Given the description of an element on the screen output the (x, y) to click on. 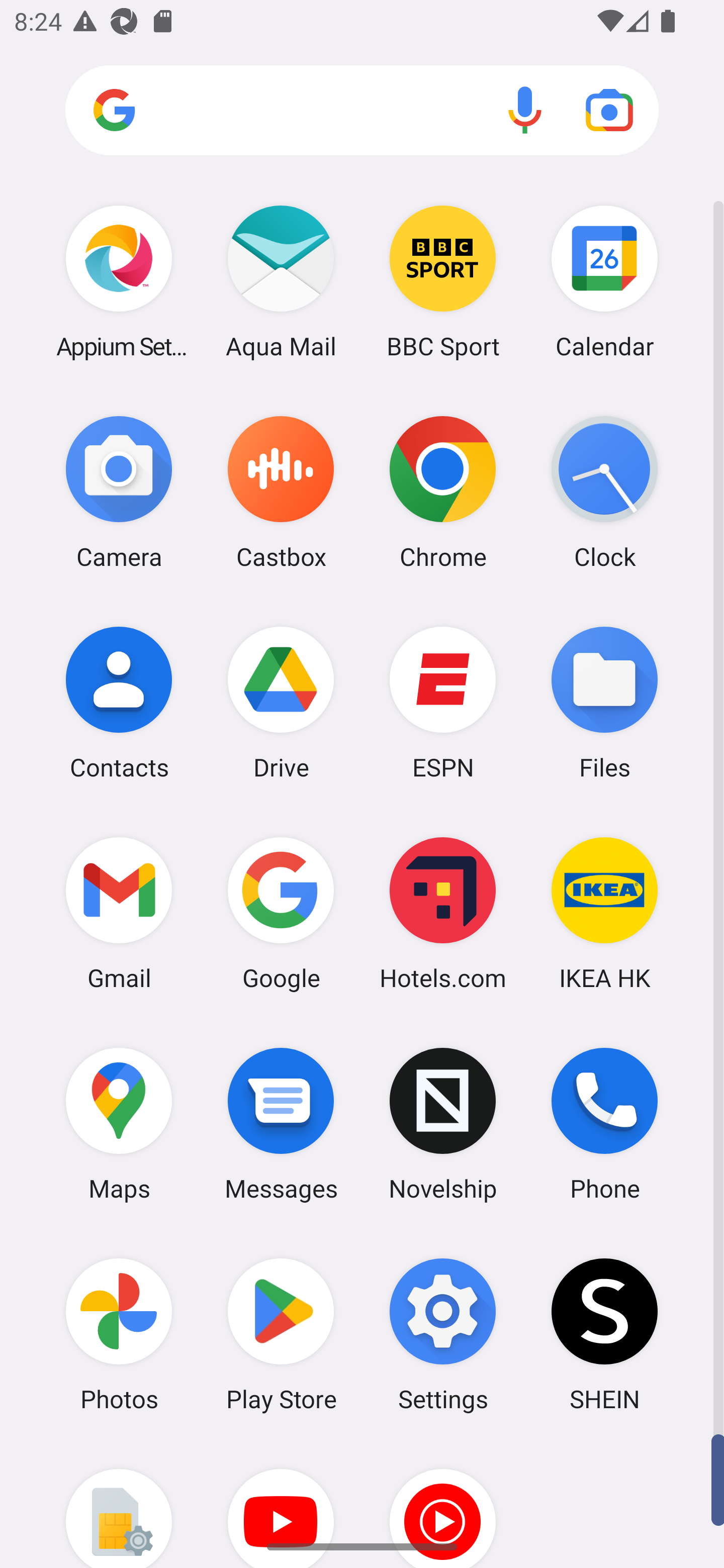
Search apps, web and more (361, 110)
Voice search (524, 109)
Google Lens (608, 109)
Appium Settings (118, 281)
Aqua Mail (280, 281)
BBC Sport (443, 281)
Calendar (604, 281)
Camera (118, 492)
Castbox (280, 492)
Chrome (443, 492)
Clock (604, 492)
Contacts (118, 702)
Drive (280, 702)
ESPN (443, 702)
Files (604, 702)
Gmail (118, 913)
Google (280, 913)
Hotels.com (443, 913)
IKEA HK (604, 913)
Maps (118, 1124)
Messages (280, 1124)
Novelship (443, 1124)
Phone (604, 1124)
Photos (118, 1334)
Play Store (280, 1334)
Settings (443, 1334)
SHEIN (604, 1334)
TMoble (118, 1503)
YouTube (280, 1503)
YT Music (443, 1503)
